Given the description of an element on the screen output the (x, y) to click on. 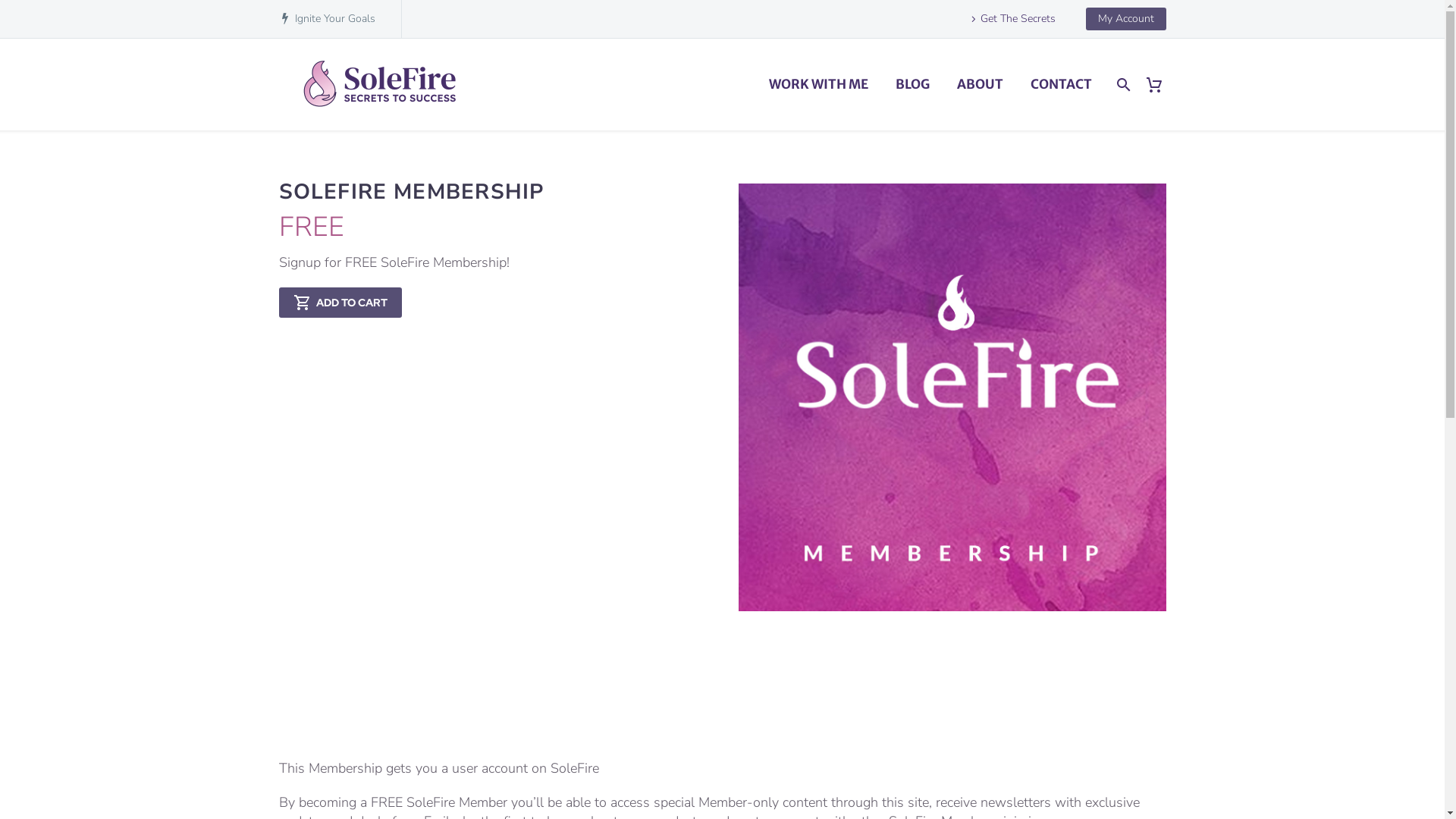
BLOG Element type: text (912, 84)
CONTACT Element type: text (1061, 84)
My Account Element type: text (1125, 18)
ABOUT Element type: text (978, 84)
WORK WITH ME Element type: text (817, 84)
Get The Secrets Element type: text (1010, 18)
